Given the description of an element on the screen output the (x, y) to click on. 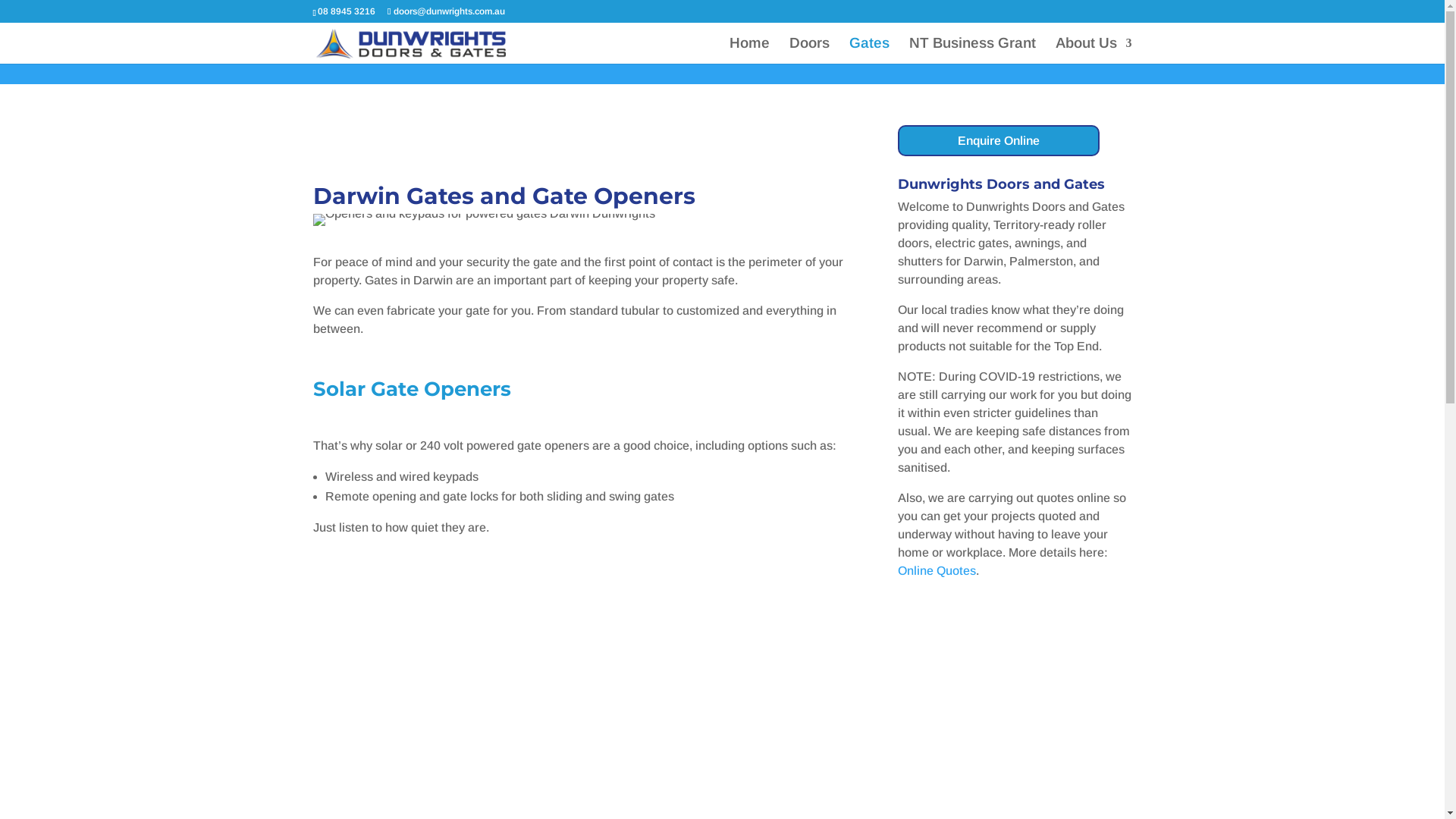
doors@dunwrights.com.au Element type: text (446, 11)
Enquire Online Element type: text (998, 140)
Online Quotes Element type: text (936, 570)
Doors Element type: text (808, 50)
About Us Element type: text (1093, 50)
Home Element type: text (749, 50)
Gates Element type: text (869, 50)
NT Business Grant Element type: text (971, 50)
